Given the description of an element on the screen output the (x, y) to click on. 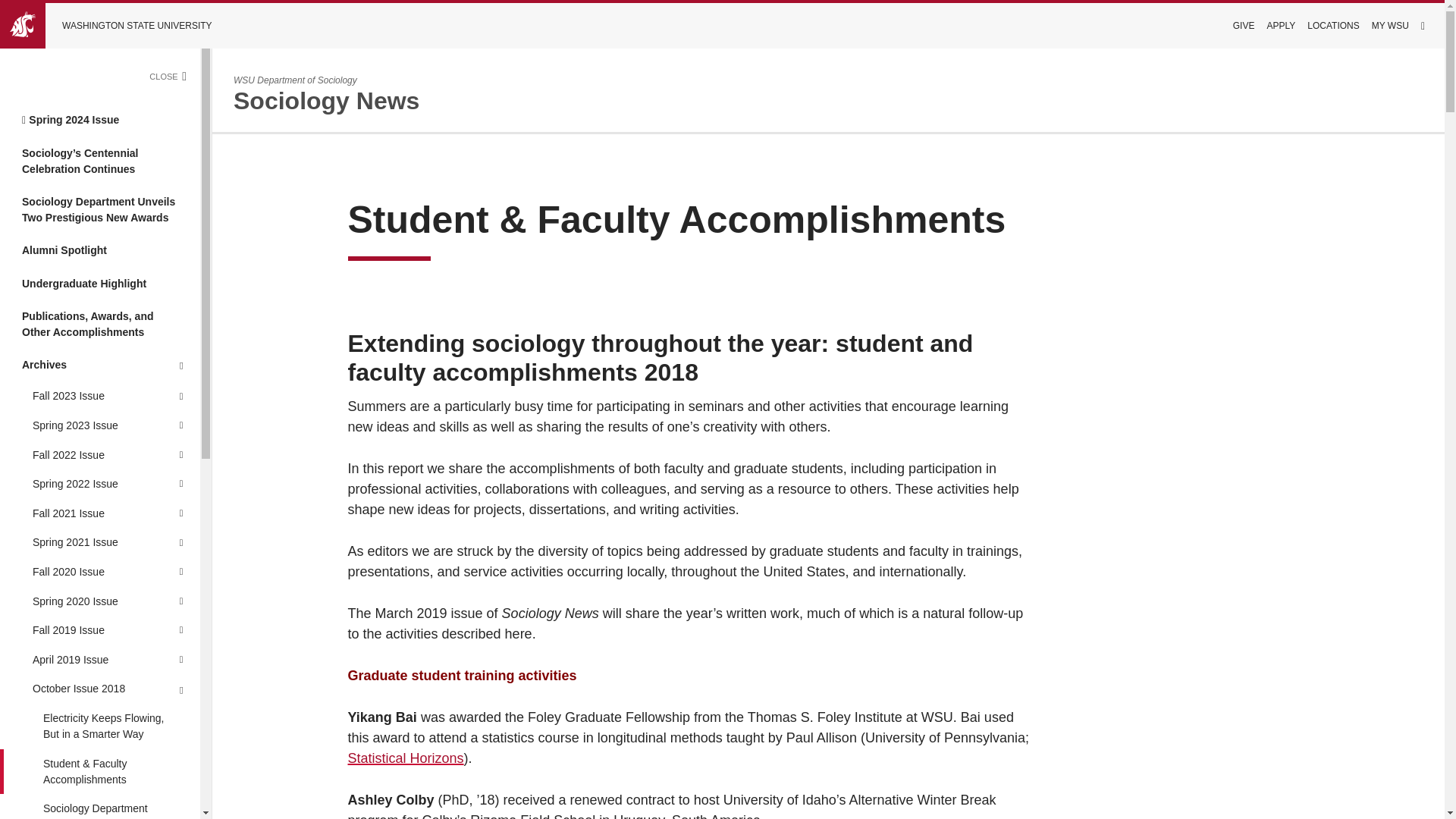
Alumni Spotlight (100, 250)
LOCATIONS (1332, 25)
Archives (100, 364)
Fall 2022 Issue (80, 455)
Publications, Awards, and Other Accomplishments (100, 324)
Spring 2024 Issue (100, 120)
Fall 2023 Issue (80, 396)
Sociology Department Unveils Two Prestigious New Awards (100, 209)
Undergraduate Highlight (100, 282)
Spring 2023 Issue (80, 425)
WASHINGTON STATE UNIVERSITY (117, 25)
CLOSE (174, 76)
